Given the description of an element on the screen output the (x, y) to click on. 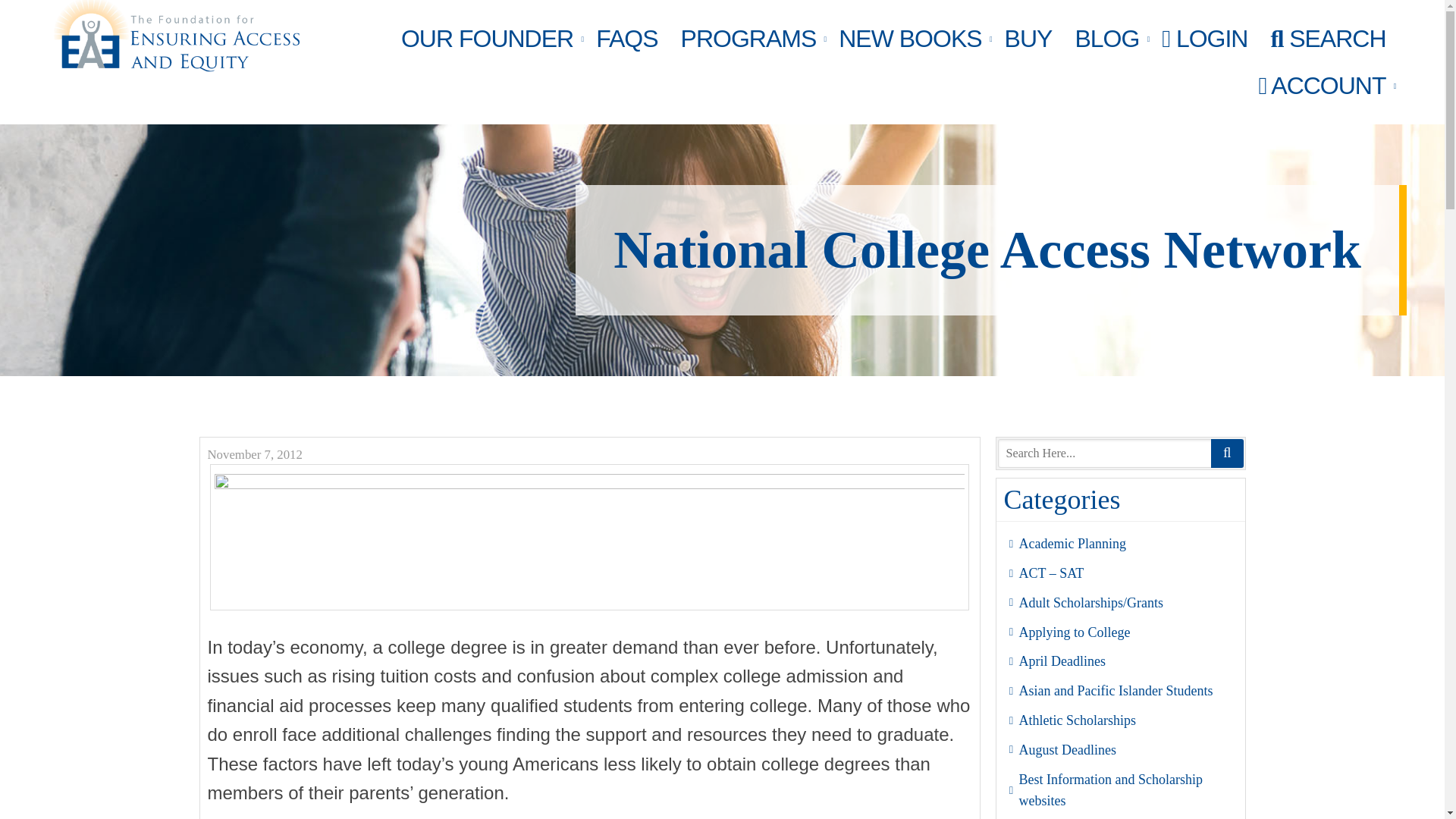
College Access Network (589, 537)
PROGRAMS (748, 38)
SEARCH (1327, 38)
BUY (1028, 38)
NEW BOOKS (909, 38)
OUR FOUNDER (487, 38)
Foundation for Ensuring Access and Equity (175, 36)
BLOG (1106, 38)
LOGIN (1204, 38)
ACCOUNT (1321, 85)
FAQS (626, 38)
